Given the description of an element on the screen output the (x, y) to click on. 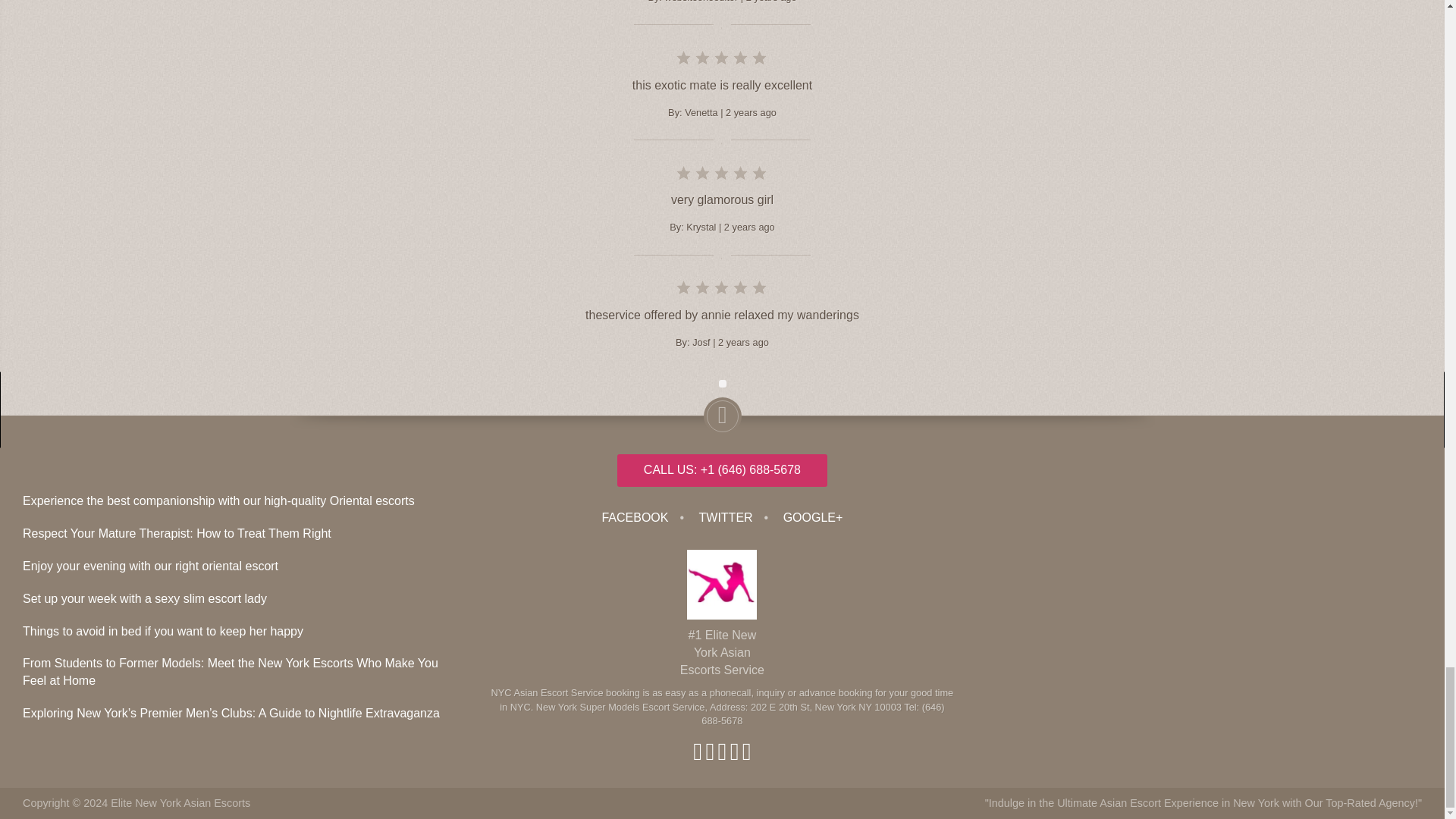
TWITTER (726, 516)
Set up your week with a sexy slim escort lady (144, 598)
FACEBOOK (633, 516)
Things to avoid in bed if you want to keep her happy (162, 631)
Respect Your Mature Therapist: How to Treat Them Right (177, 533)
Elite New York Asian Escorts (180, 802)
Enjoy your evening with our right oriental escort (150, 565)
Elite New York Asian Escorts (180, 802)
